Given the description of an element on the screen output the (x, y) to click on. 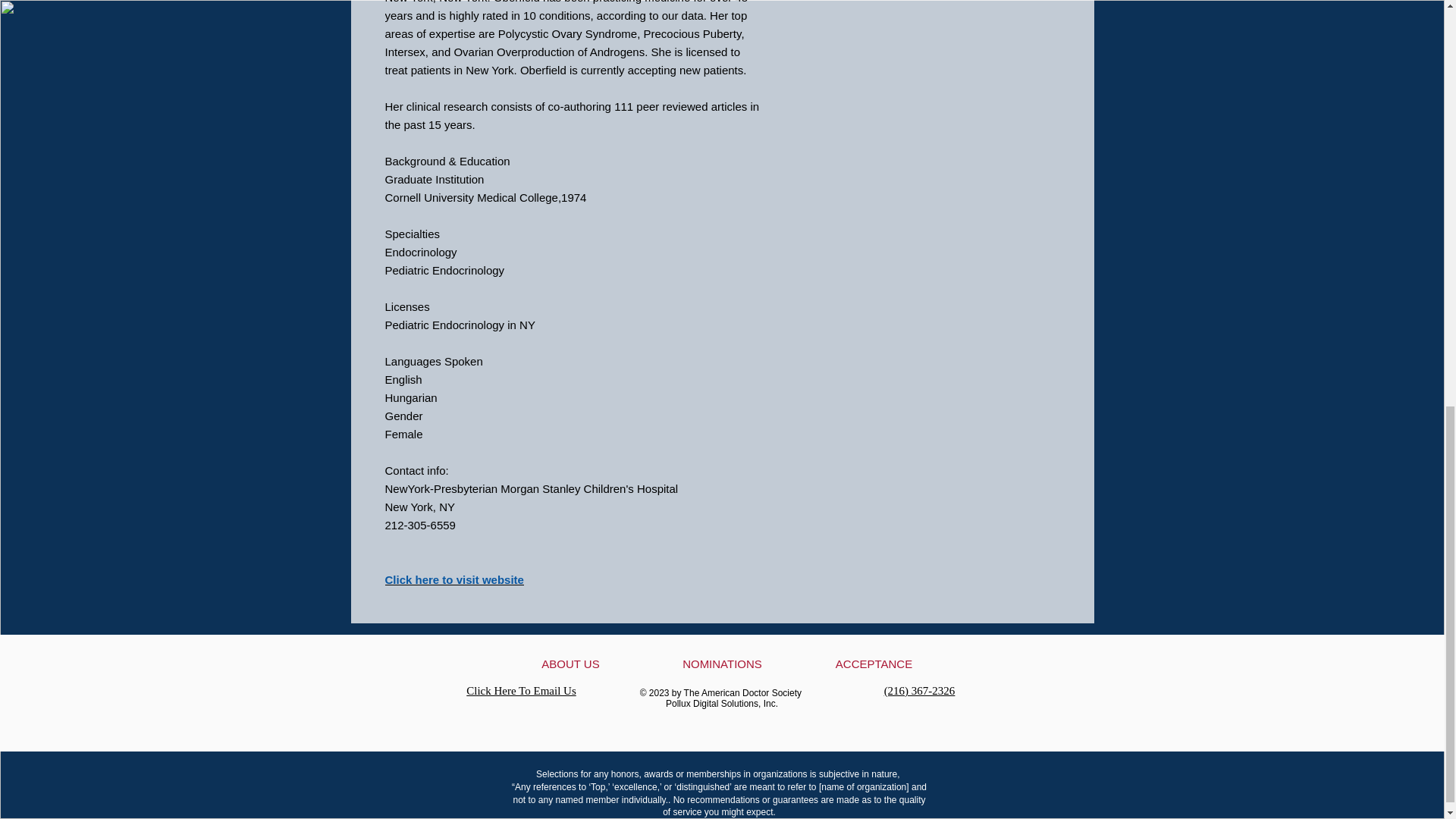
ABOUT US (570, 663)
Click Here To Email Us (520, 690)
NOMINATIONS (721, 663)
Click here to visit website (454, 579)
ACCEPTANCE (873, 663)
